Given the description of an element on the screen output the (x, y) to click on. 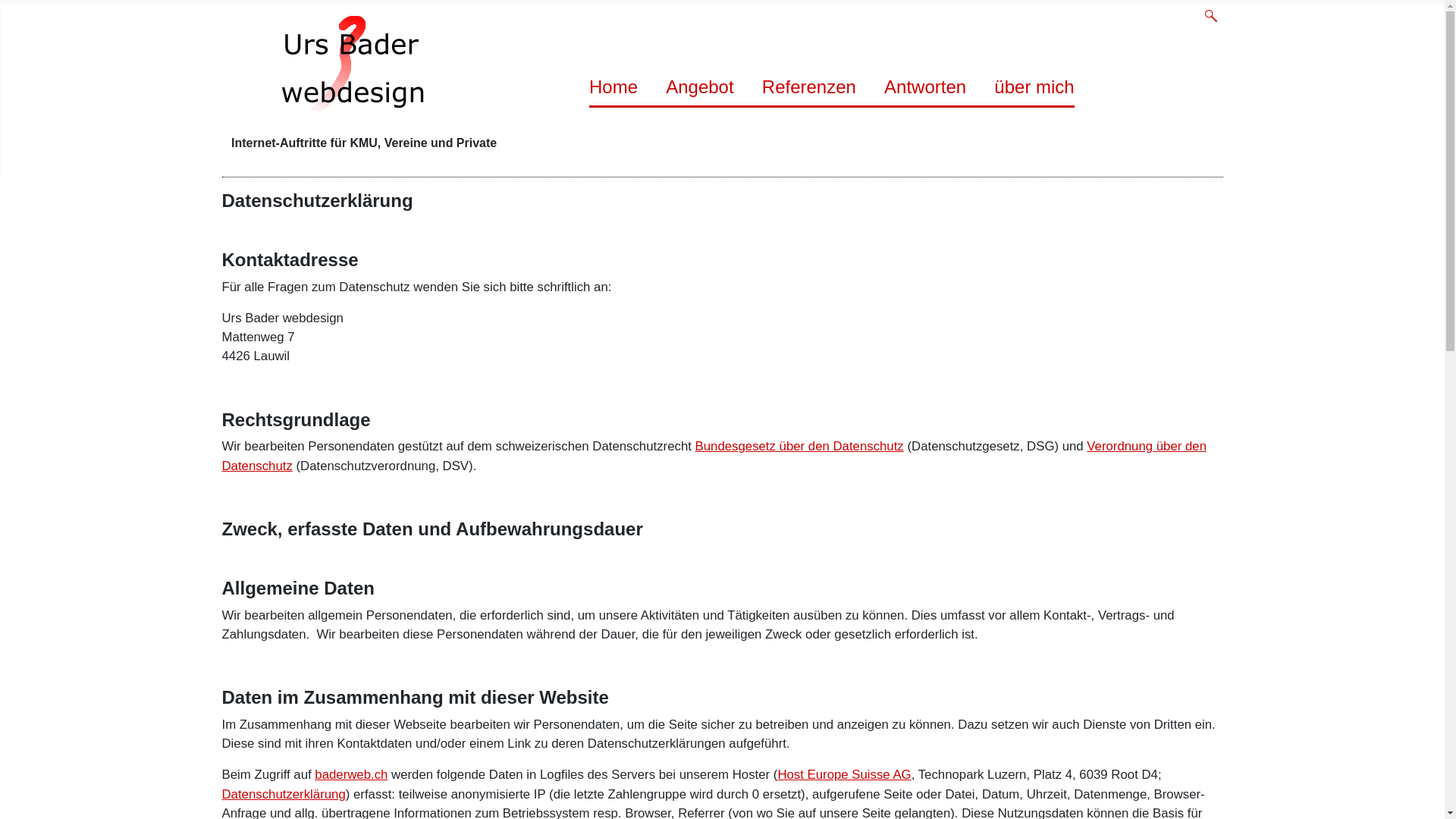
Lupe Element type: hover (1210, 15)
baderweb.ch Element type: text (350, 774)
Referenzen Element type: text (809, 86)
Home Element type: text (613, 86)
Antworten Element type: text (925, 86)
Host Europe Suisse AG Element type: text (843, 774)
Angebot Element type: text (699, 86)
